Given the description of an element on the screen output the (x, y) to click on. 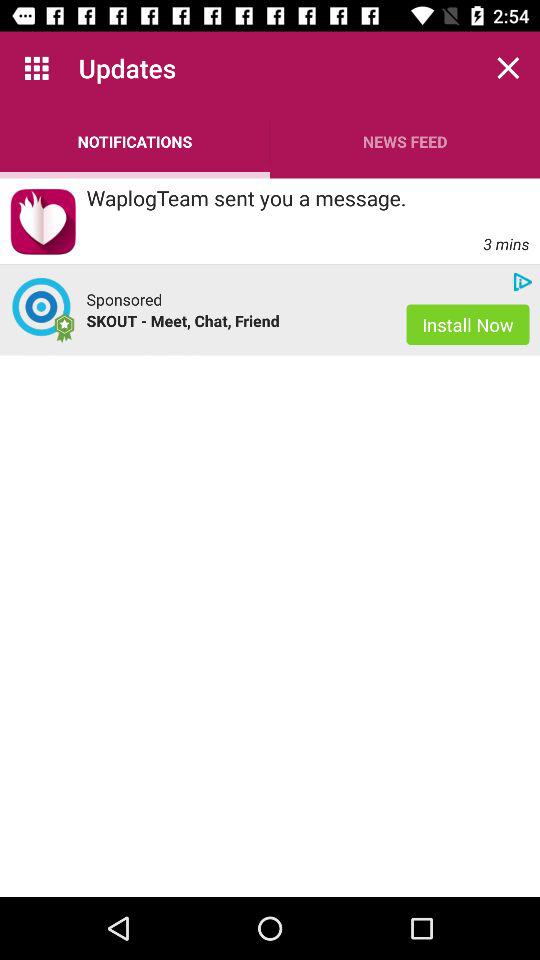
click the app to the left of install now icon (124, 299)
